Given the description of an element on the screen output the (x, y) to click on. 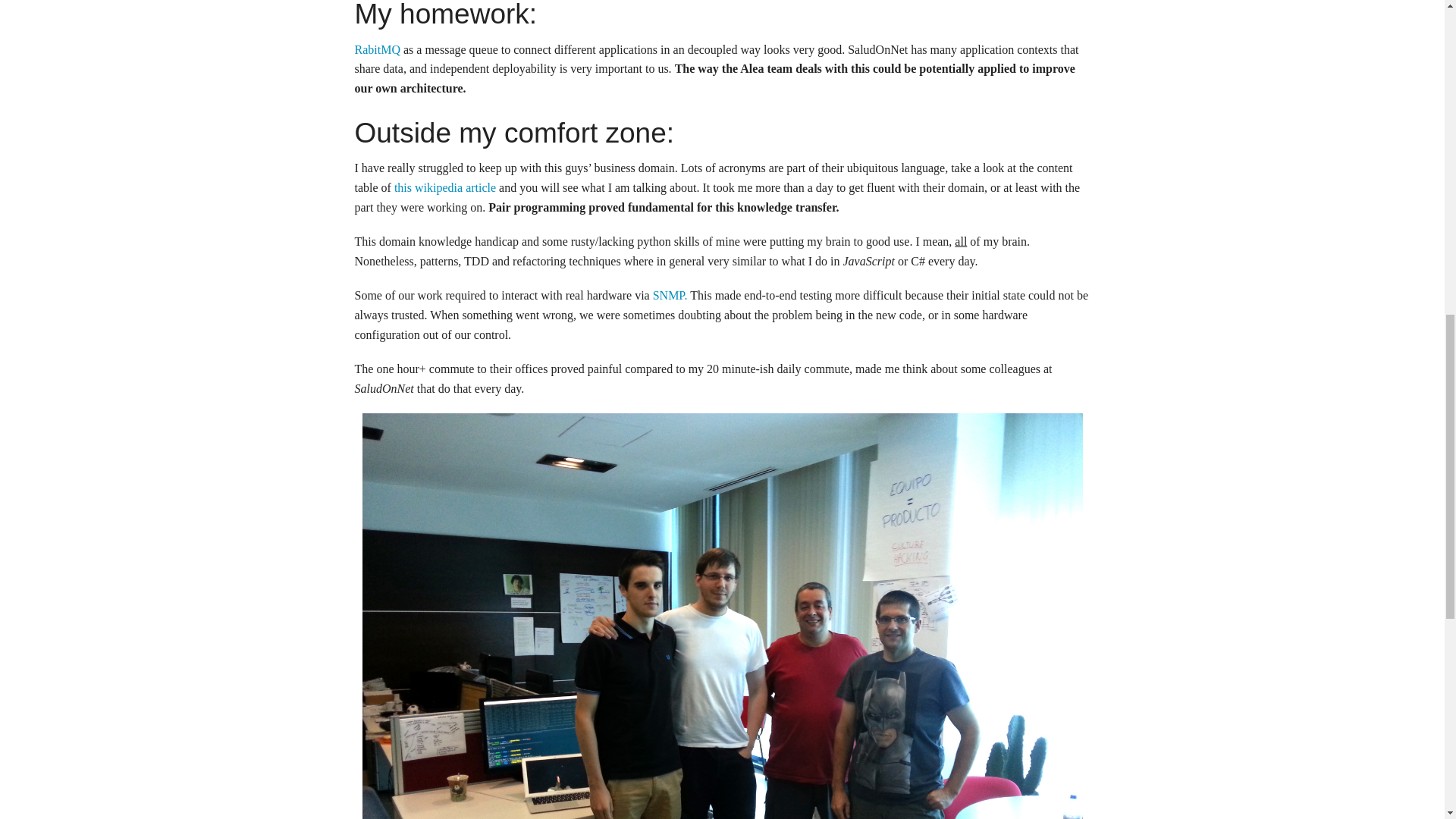
this wikipedia article (445, 187)
SNMP. (669, 295)
RabitMQ (377, 49)
